Given the description of an element on the screen output the (x, y) to click on. 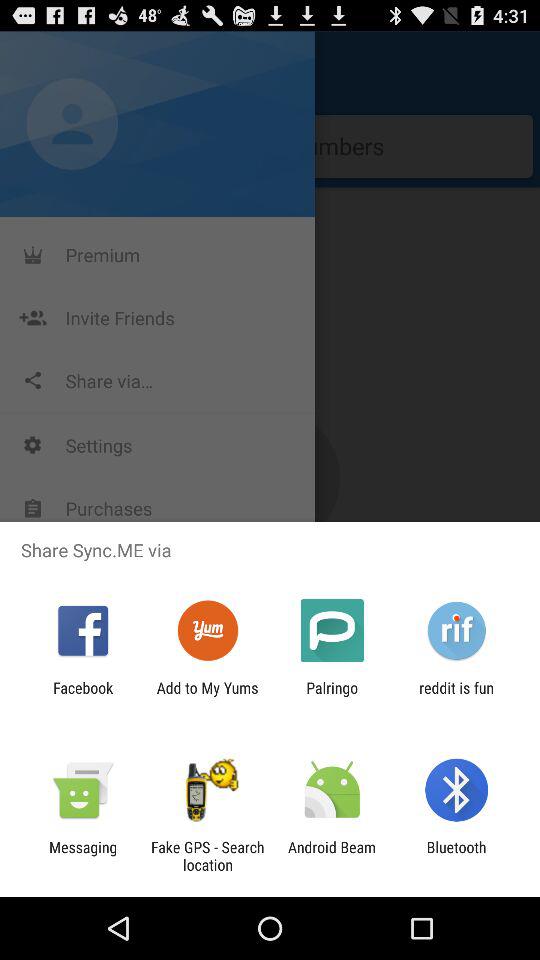
turn off icon to the right of fake gps search item (332, 856)
